Given the description of an element on the screen output the (x, y) to click on. 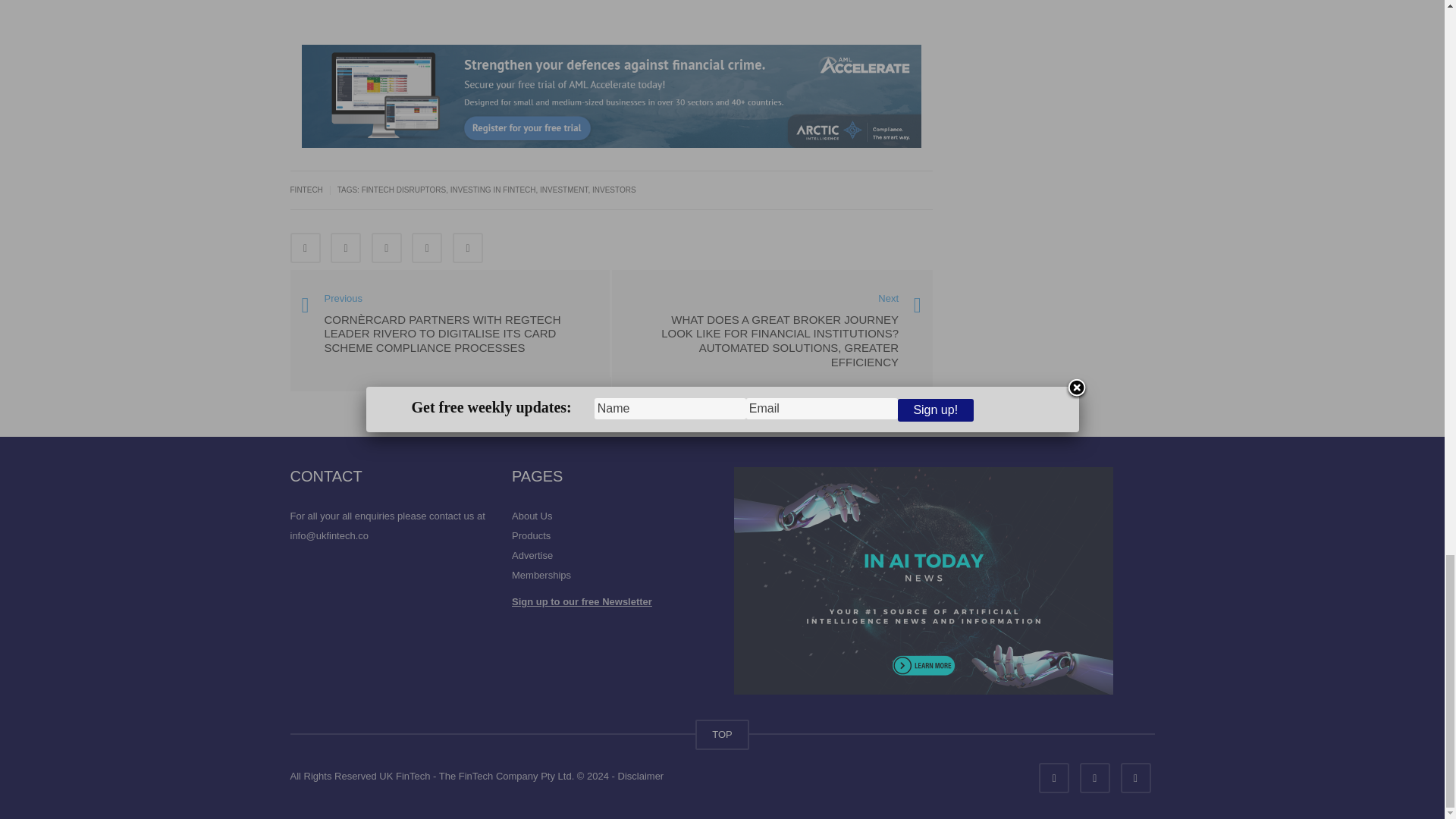
Share on Facebook (304, 247)
Share on Twitter (345, 247)
FINTECH (305, 189)
Pin this (427, 247)
Email this (467, 247)
Share on LinkedIn (386, 247)
